Given the description of an element on the screen output the (x, y) to click on. 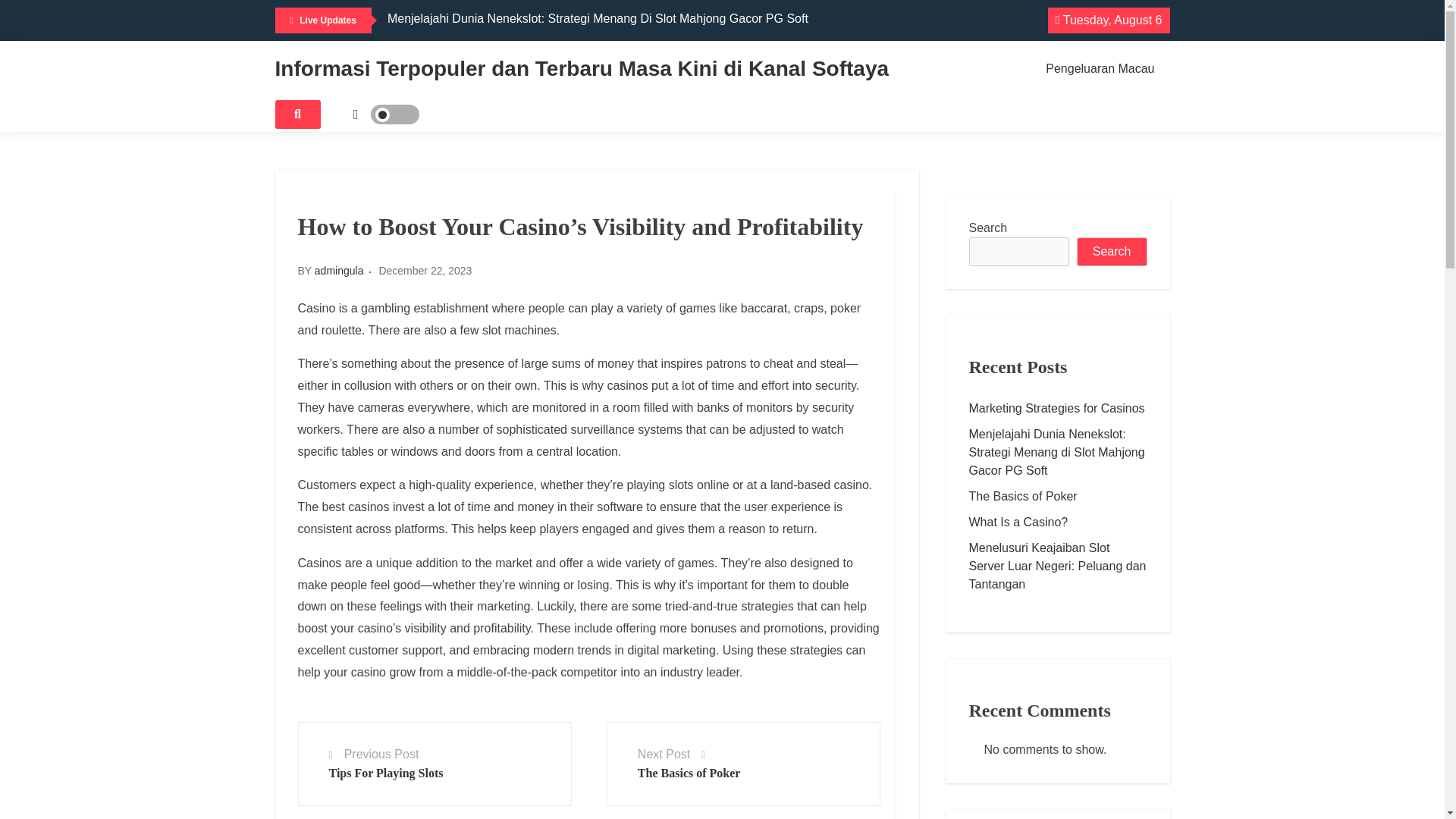
Informasi Terpopuler dan Terbaru Masa Kini di Kanal Softaya (581, 68)
Search (1112, 251)
Marketing Strategies for Casinos (1058, 408)
December 22, 2023 (424, 270)
Next Post (663, 753)
Previous Post (381, 753)
Tips For Playing Slots (386, 772)
The Basics of Poker (1058, 496)
